Given the description of an element on the screen output the (x, y) to click on. 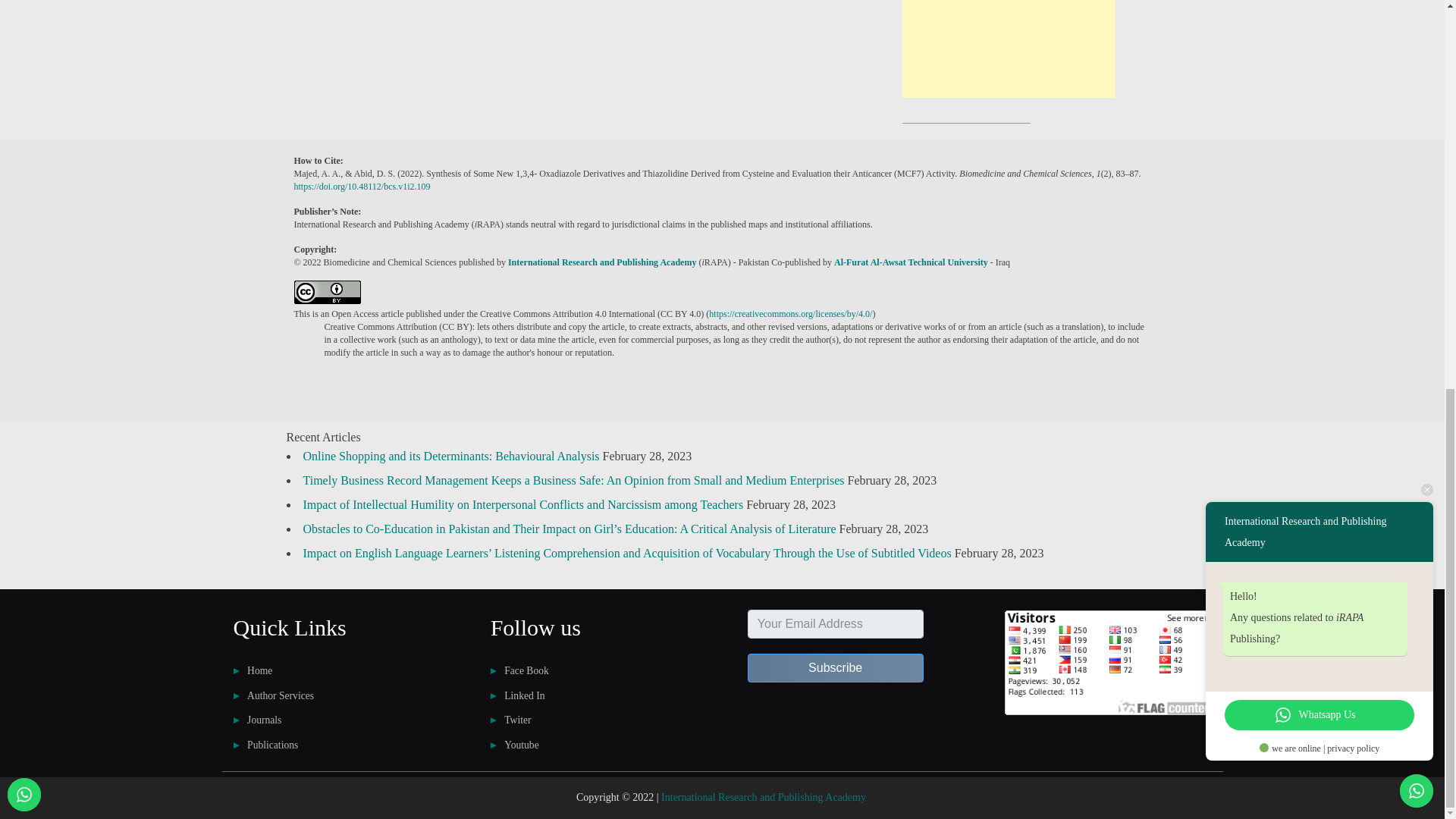
International Research and Publishing Academy (601, 262)
Advertisement (1008, 48)
